Given the description of an element on the screen output the (x, y) to click on. 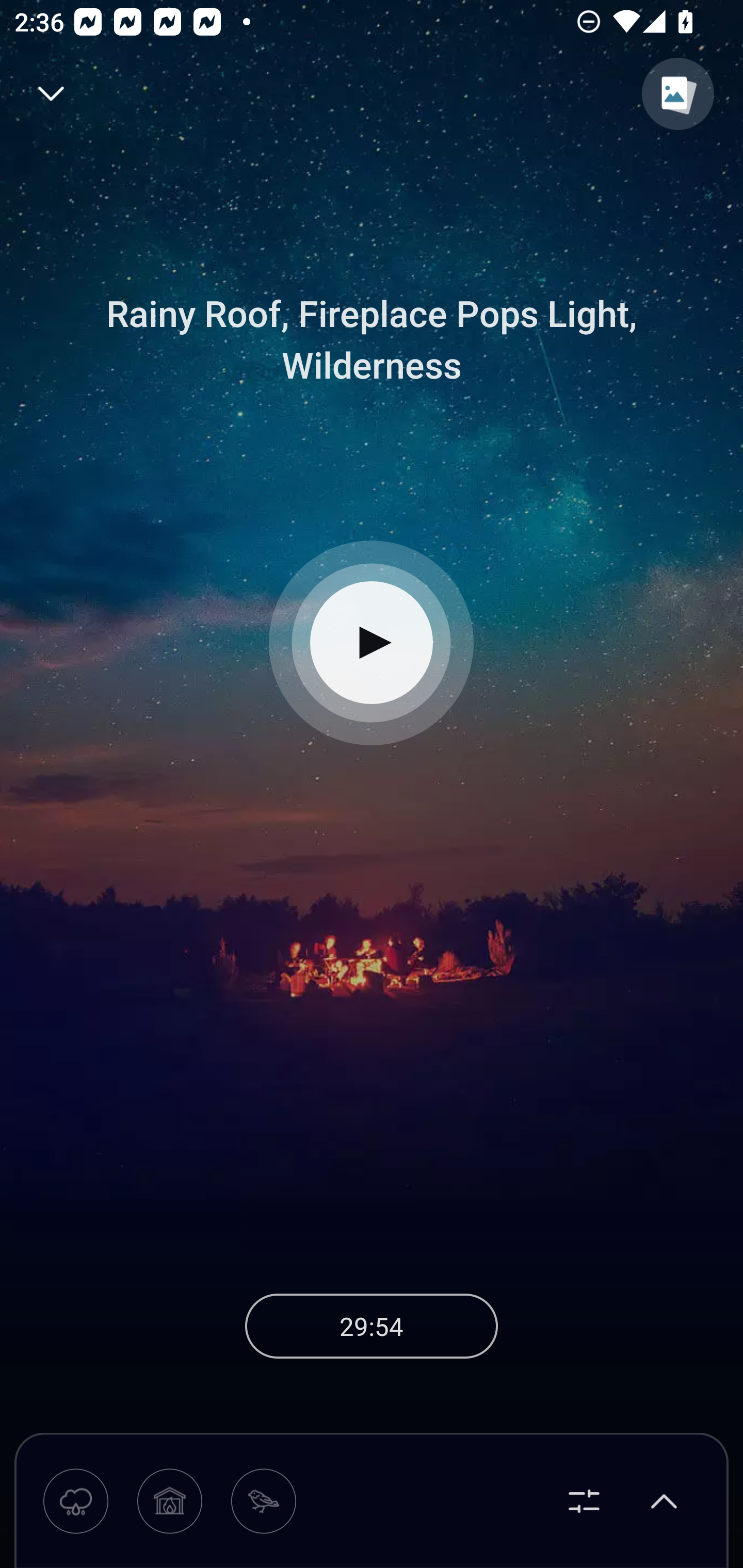
29:54 (371, 1325)
